Given the description of an element on the screen output the (x, y) to click on. 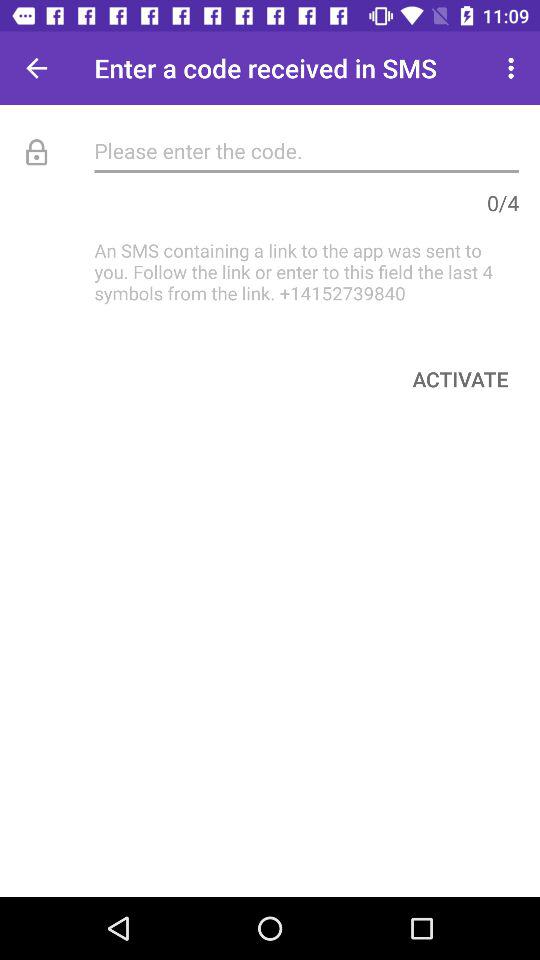
tap the item next to the enter a code item (36, 68)
